Given the description of an element on the screen output the (x, y) to click on. 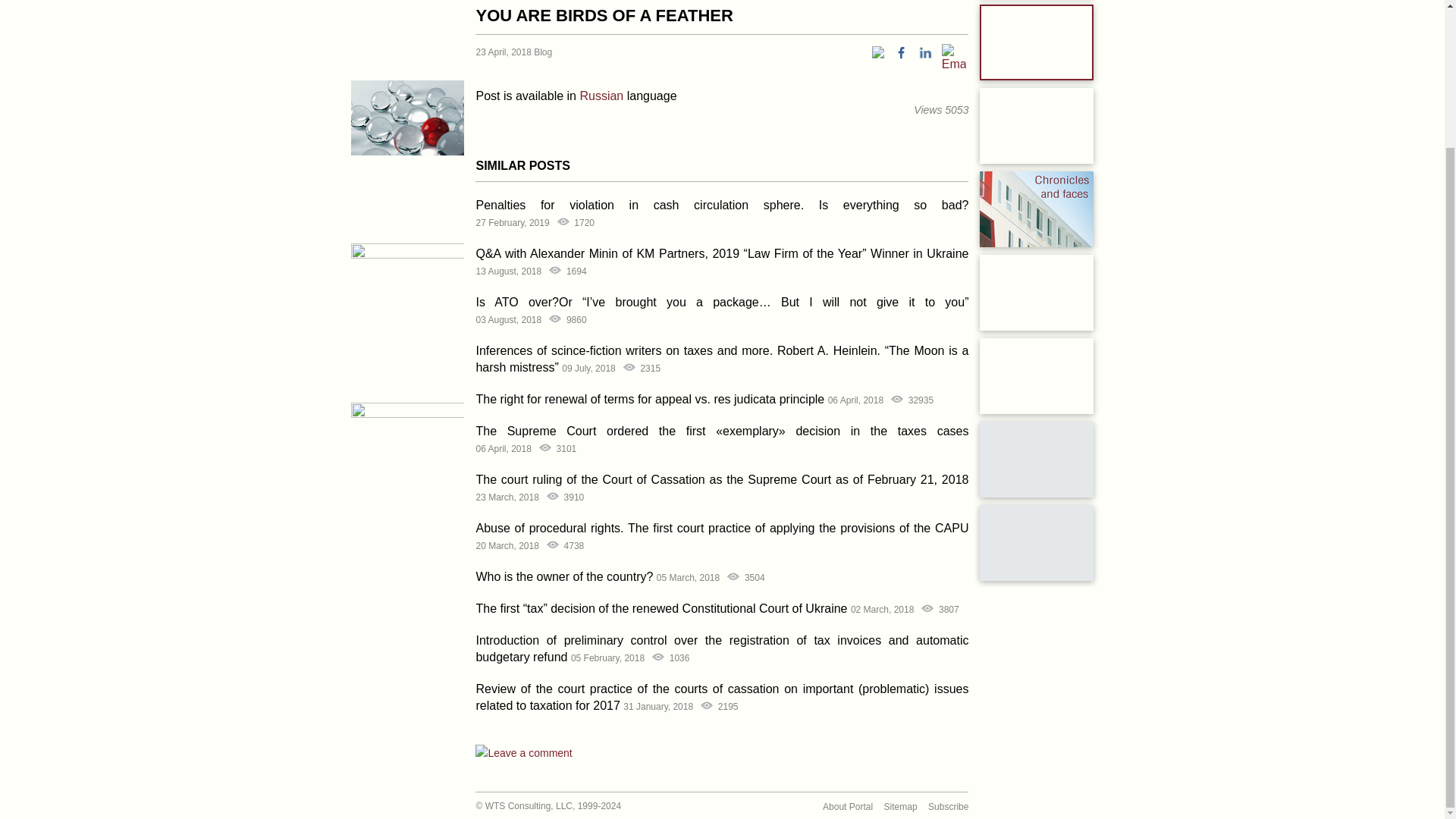
Russian (601, 95)
LinkedIn (925, 52)
Leave a comment (524, 752)
Facebook (901, 52)
Who is the owner of the country? (564, 576)
